Given the description of an element on the screen output the (x, y) to click on. 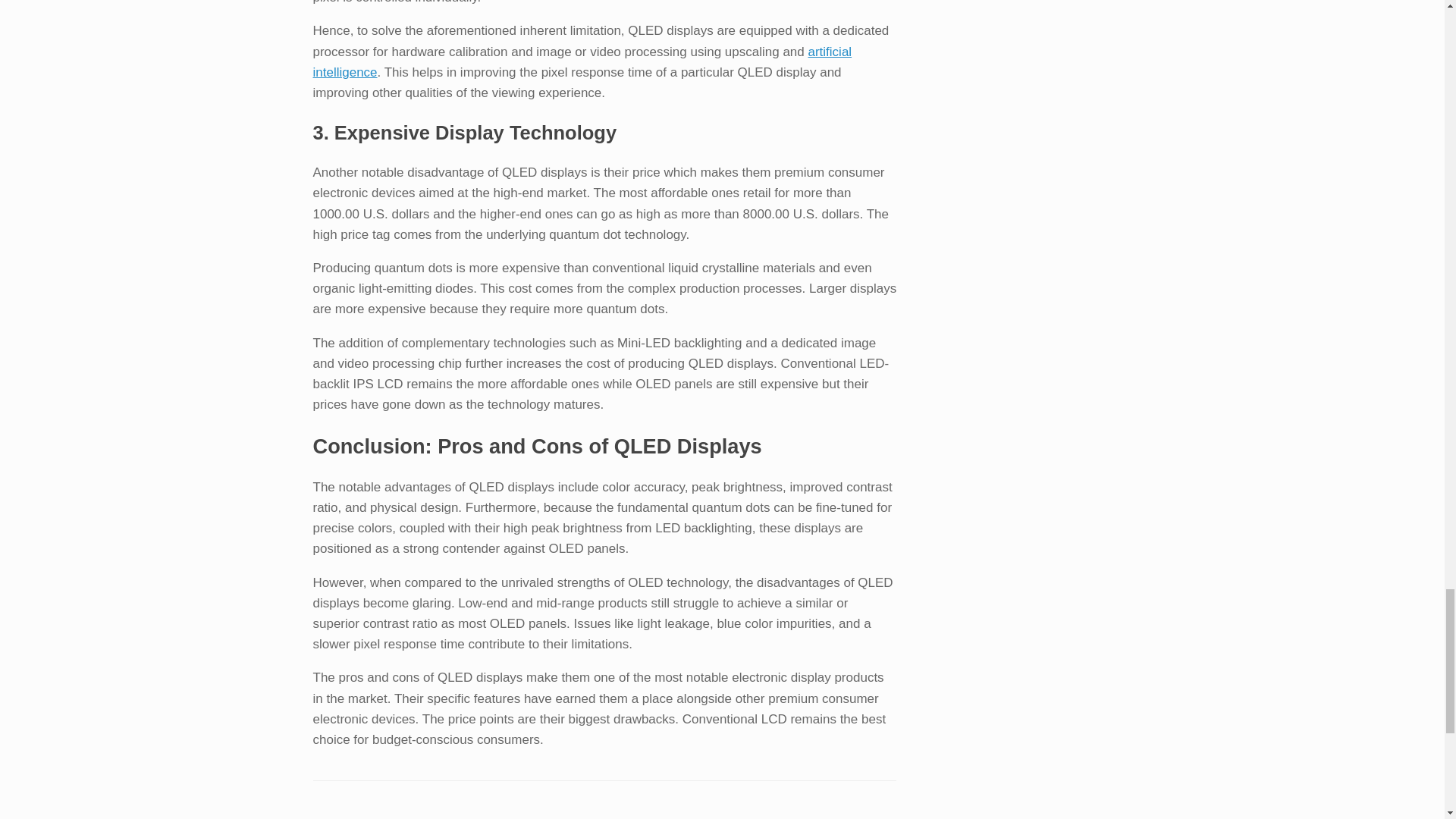
artificial intelligence (582, 61)
